Given the description of an element on the screen output the (x, y) to click on. 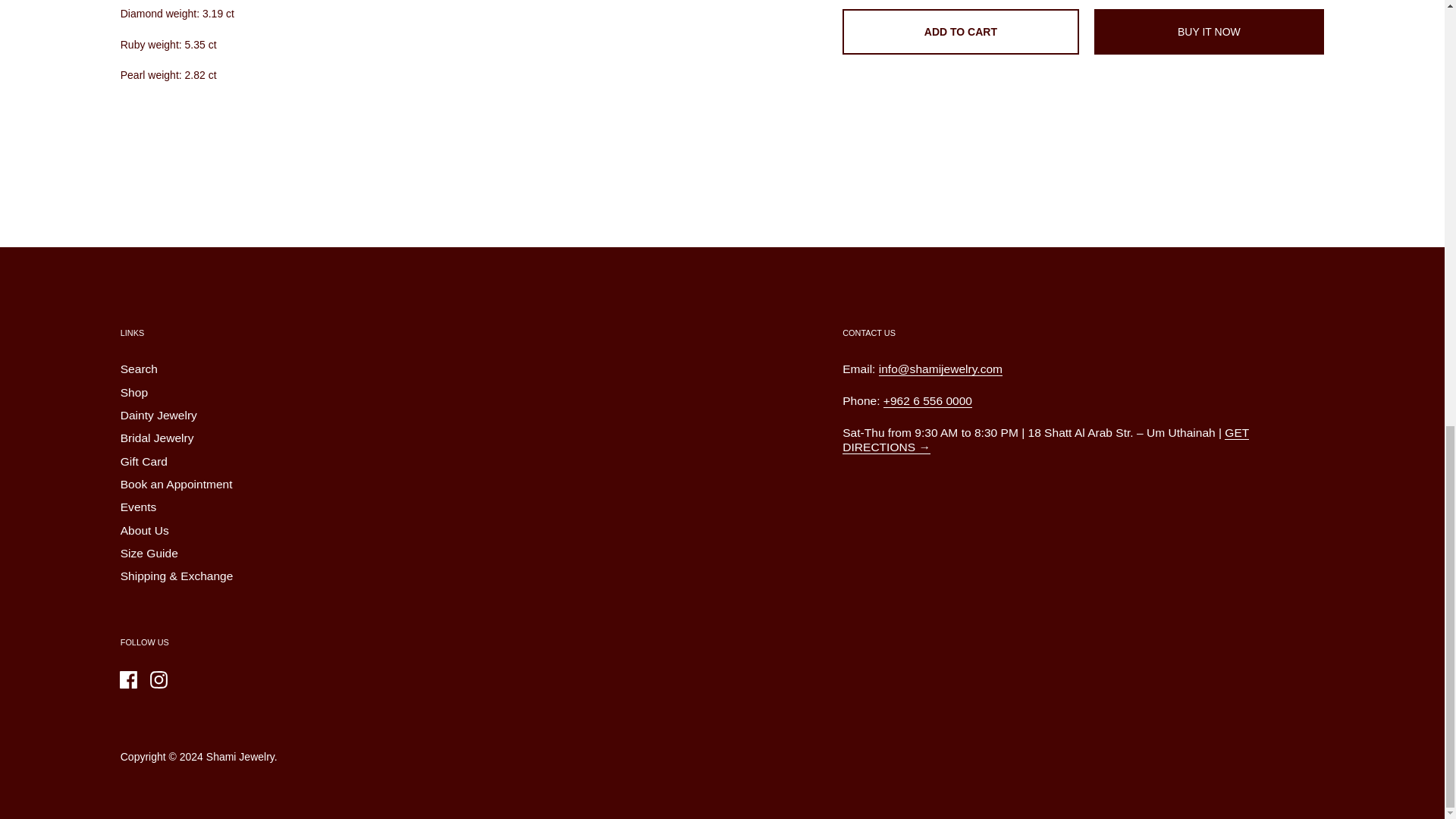
Book an Appointment (176, 485)
Shop (134, 393)
Bridal Jewelry (156, 438)
Search (138, 369)
Gift Card (143, 462)
Dainty Jewelry (158, 416)
Events (138, 507)
About Us (144, 531)
Map (1046, 439)
tel: 0096265560000 (927, 400)
